Given the description of an element on the screen output the (x, y) to click on. 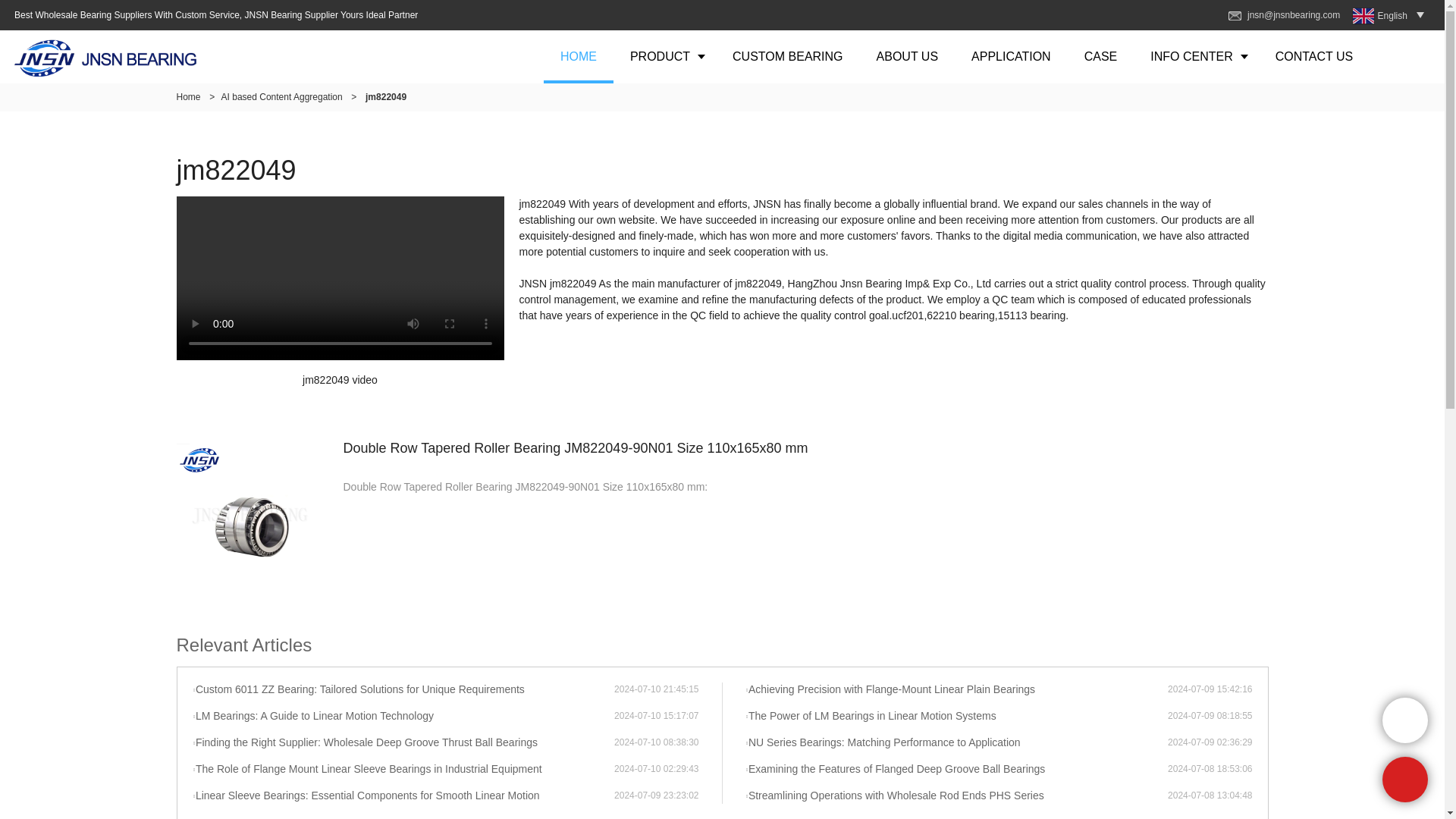
HOME (577, 56)
PRODUCT (664, 56)
